Given the description of an element on the screen output the (x, y) to click on. 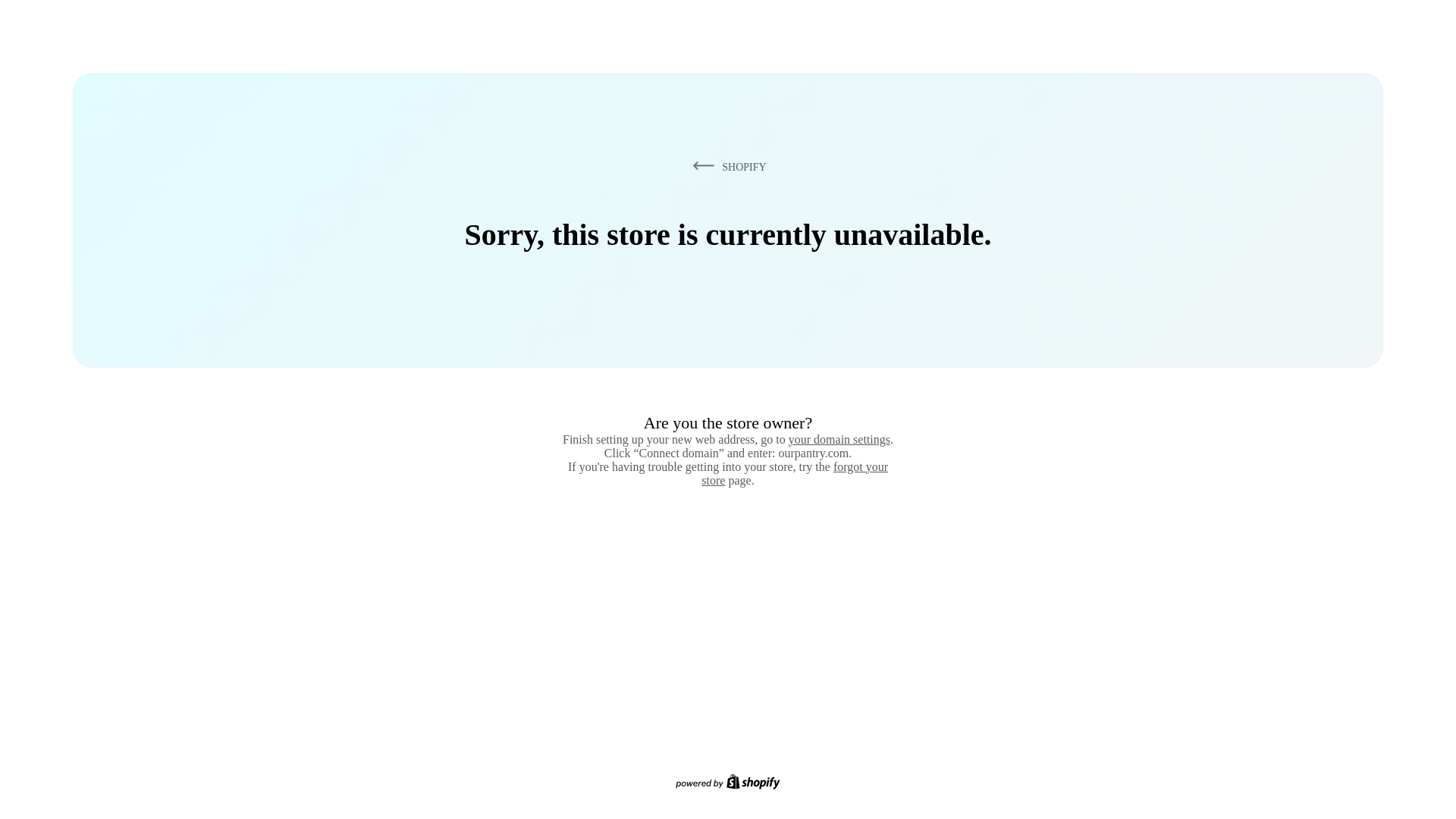
your domain settings (839, 439)
forgot your store (794, 473)
SHOPIFY (726, 166)
